Given the description of an element on the screen output the (x, y) to click on. 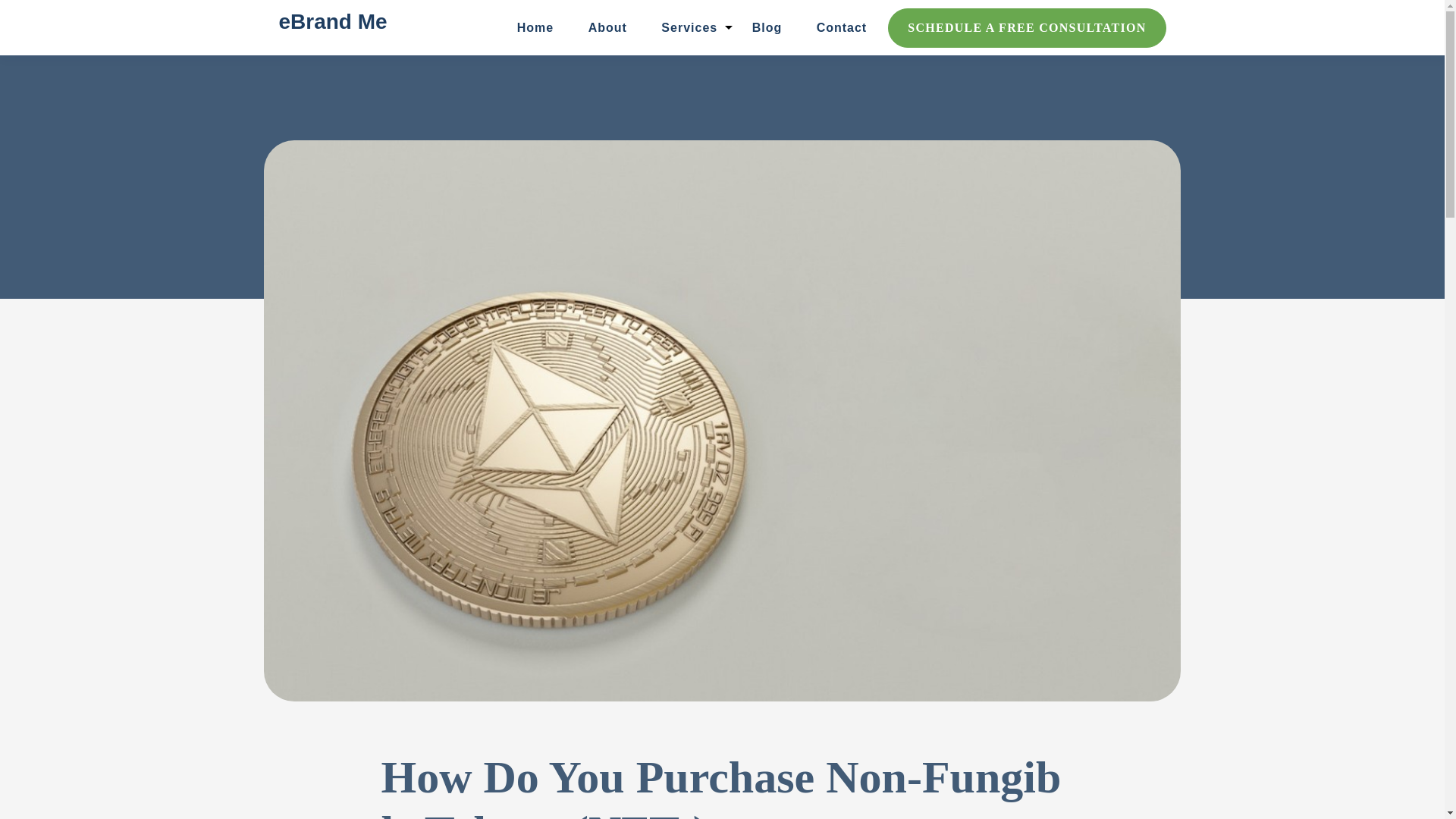
Home (534, 27)
Blog (767, 27)
About (607, 27)
Services (689, 27)
Contact (841, 27)
SCHEDULE A FREE CONSULTATION (1027, 27)
